Given the description of an element on the screen output the (x, y) to click on. 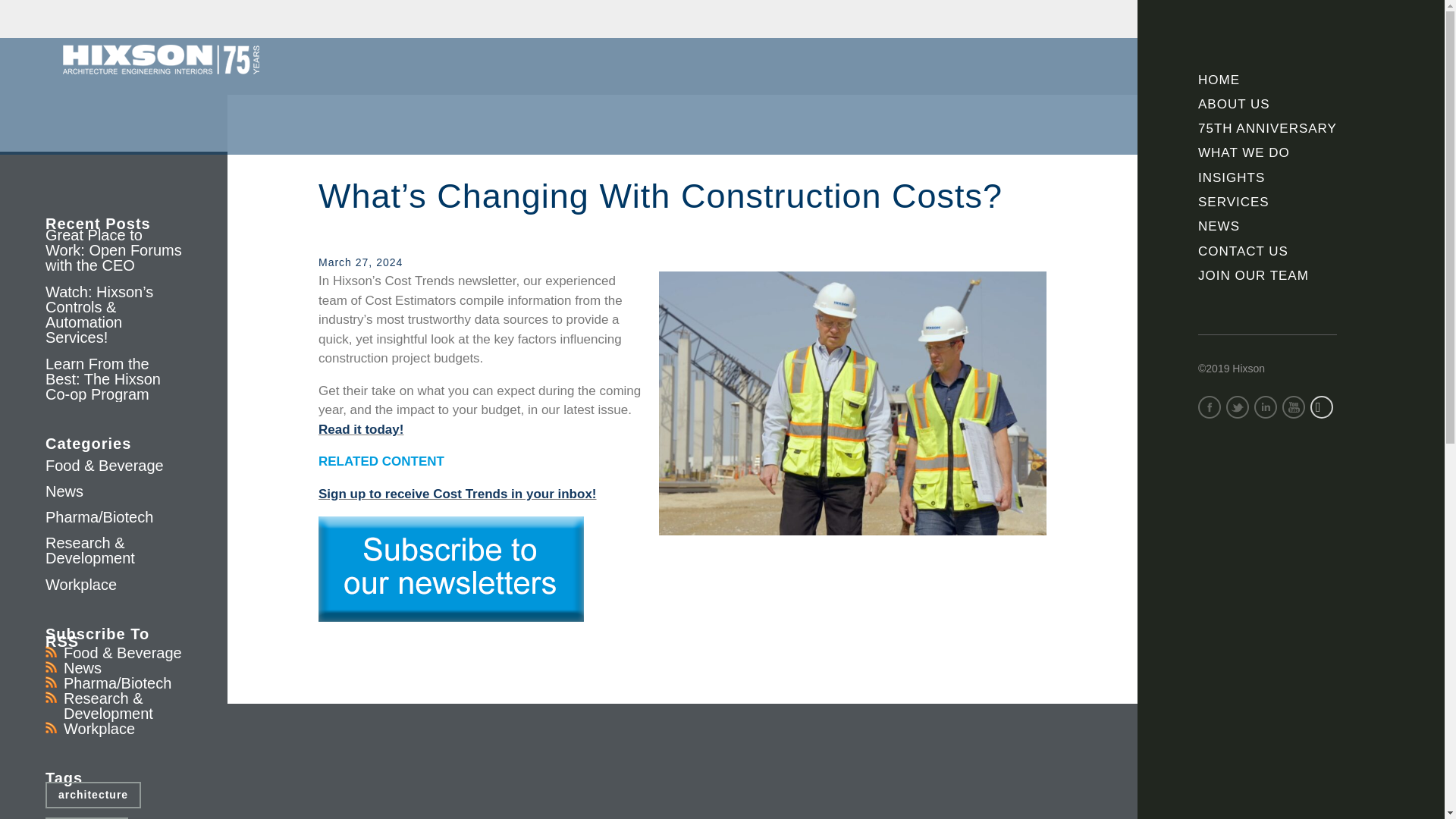
Sign up to receive Cost Trends in your inbox! (457, 493)
March 27, 2024 (360, 262)
Great Place to Work: Open Forums with the CEO (113, 249)
cincinnati (86, 818)
Learn From the Best: The Hixson Co-op Program (102, 378)
Twitter (1237, 406)
Workplace (80, 584)
News (63, 491)
News (82, 668)
Facebook (1209, 406)
Read it today! (360, 429)
architecture (93, 795)
Workplace (99, 728)
YouTube (1293, 406)
Hixson Architecture (160, 59)
